Given the description of an element on the screen output the (x, y) to click on. 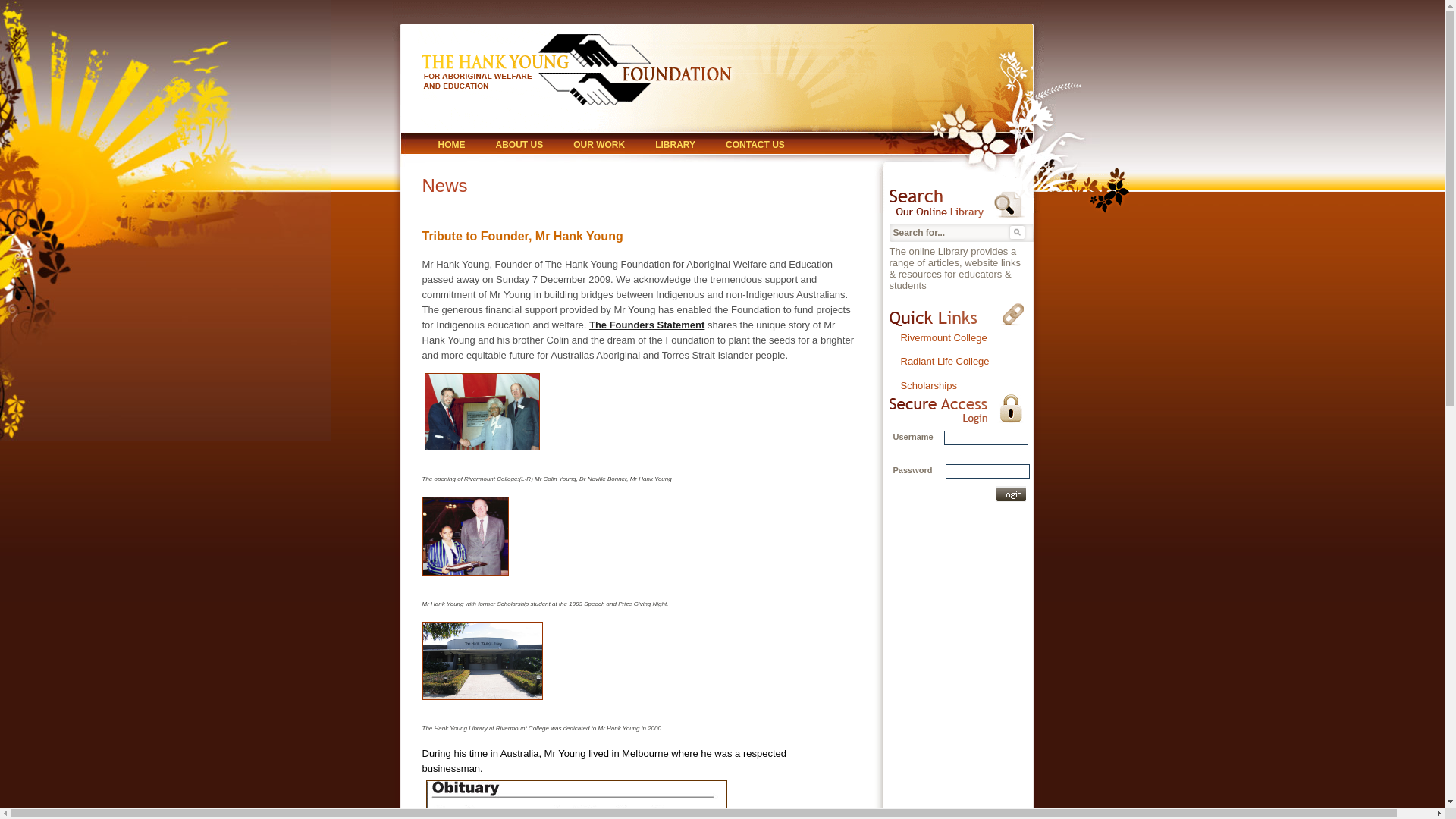
LIBRARY Element type: text (675, 144)
Radiant Life College Element type: text (944, 361)
Scholarships Element type: text (928, 385)
The Founders Statement Element type: text (646, 324)
CONTACT US Element type: text (755, 144)
Rivermount College Element type: text (943, 337)
HOME Element type: text (451, 144)
ABOUT US Element type: text (519, 144)
OUR WORK Element type: text (599, 144)
